Given the description of an element on the screen output the (x, y) to click on. 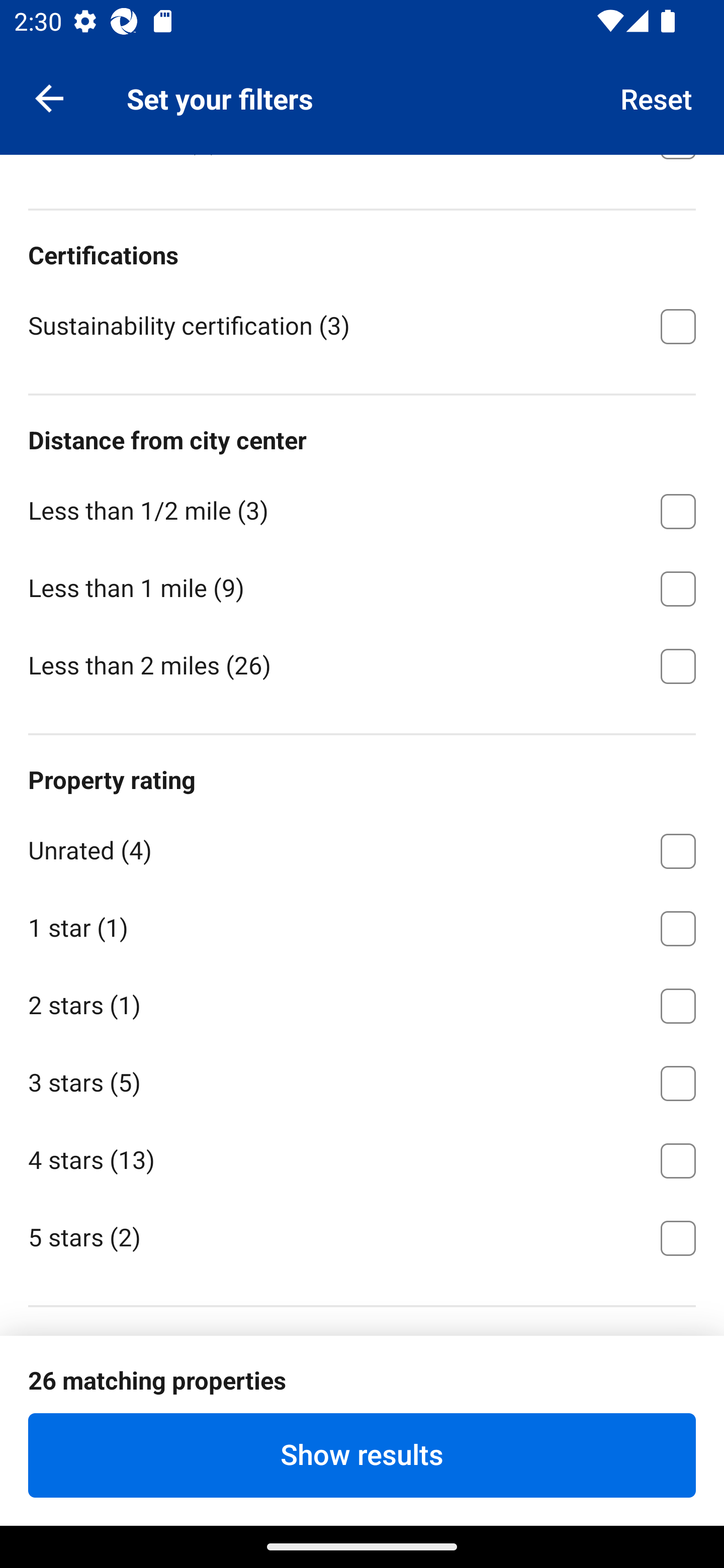
Navigate up (49, 97)
Reset (656, 97)
Sustainability certification ⁦(3) (361, 324)
Less than 1/2 mile ⁦(3) (361, 507)
Less than 1 mile ⁦(9) (361, 585)
Less than 2 miles ⁦(26) (361, 664)
Unrated ⁦(4) (361, 847)
1 star ⁦(1) (361, 924)
2 stars ⁦(1) (361, 1002)
3 stars ⁦(5) (361, 1079)
4 stars ⁦(13) (361, 1156)
5 stars ⁦(2) (361, 1236)
Show results (361, 1454)
